Given the description of an element on the screen output the (x, y) to click on. 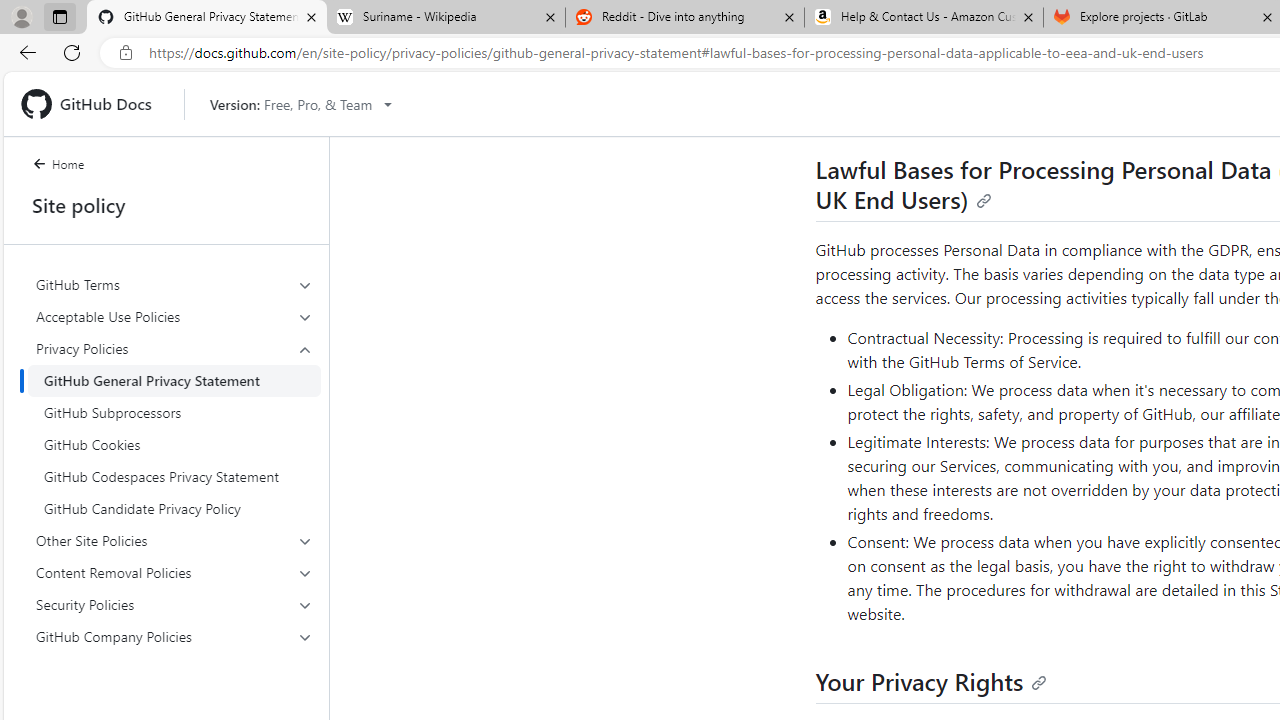
GitHub Candidate Privacy Policy (174, 508)
GitHub Codespaces Privacy Statement (174, 476)
Site policy (166, 205)
GitHub Docs (93, 103)
GitHub Subprocessors (174, 412)
Privacy Policies (174, 428)
Privacy Policies (174, 348)
